Given the description of an element on the screen output the (x, y) to click on. 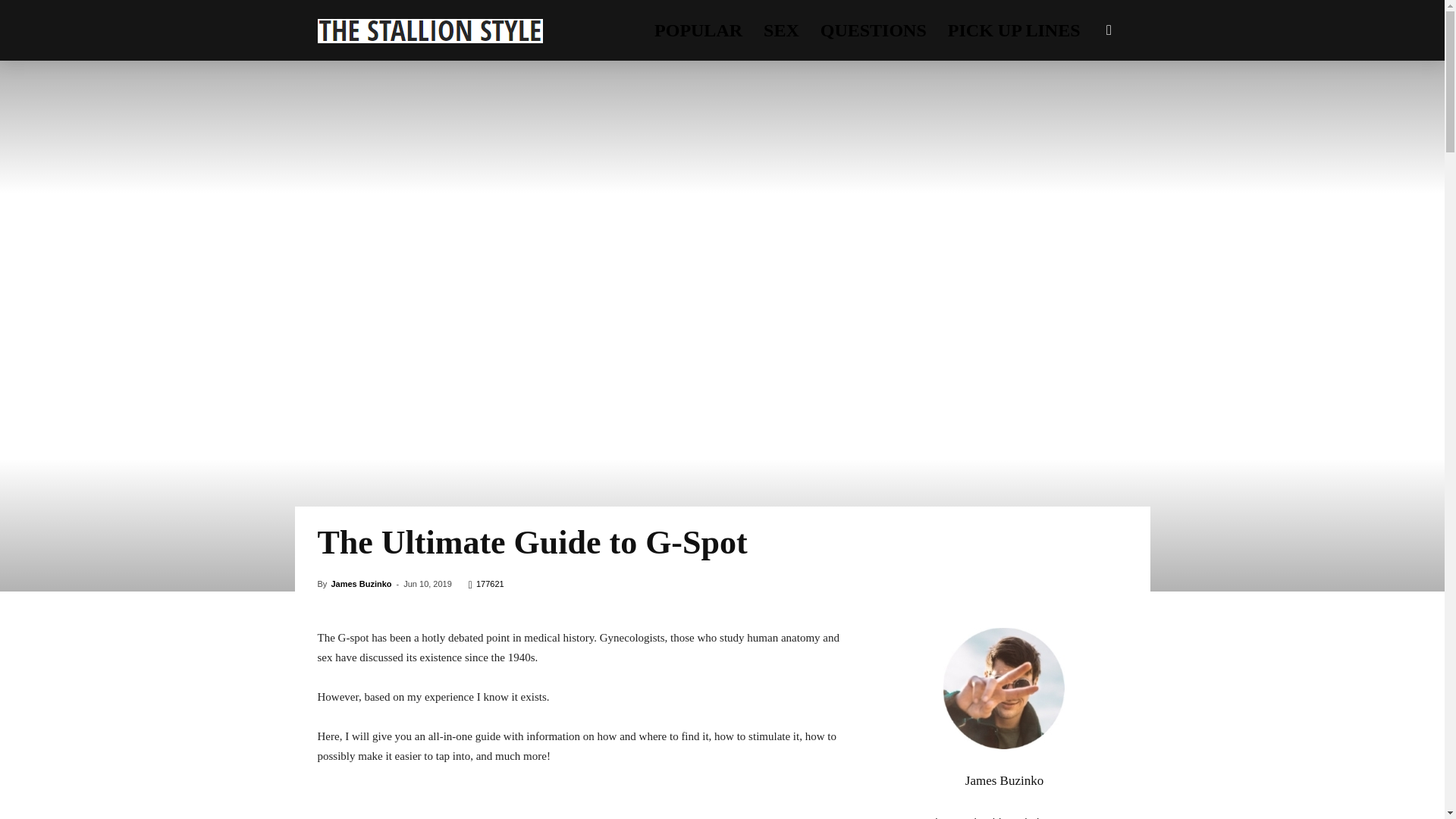
SEX (780, 30)
POPULAR (697, 30)
PICK UP LINES (1013, 30)
James Buzinko (360, 583)
QUESTIONS (873, 30)
TheStallionStyle (429, 30)
Search (1085, 102)
